Given the description of an element on the screen output the (x, y) to click on. 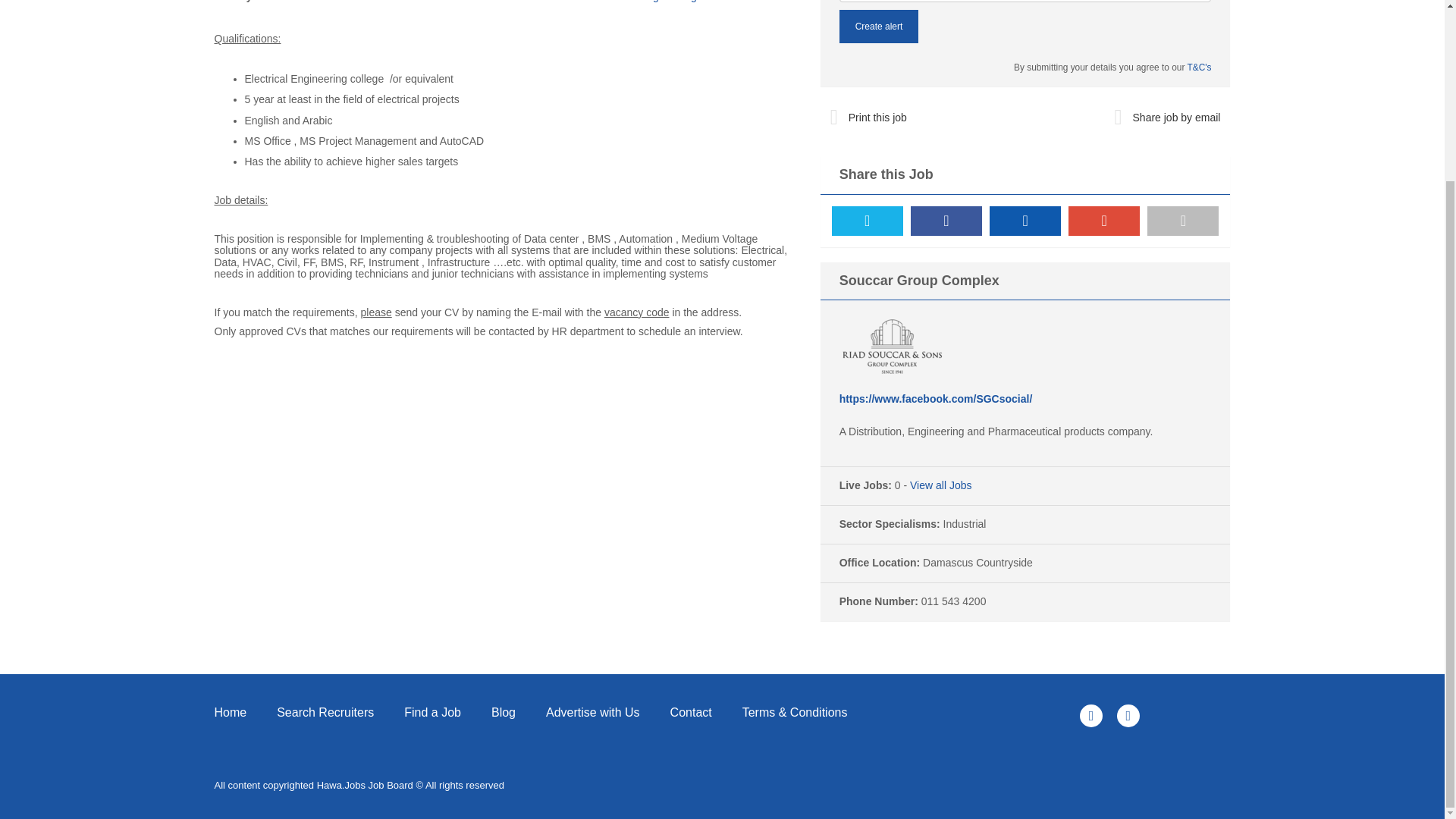
Share job by email (1166, 117)
Twitter (866, 220)
Print this job (869, 117)
Facebook (946, 220)
Home (238, 712)
Engineering (668, 1)
Email (1182, 220)
Create alert (879, 26)
Find a Job (432, 712)
Contact (690, 712)
